Given the description of an element on the screen output the (x, y) to click on. 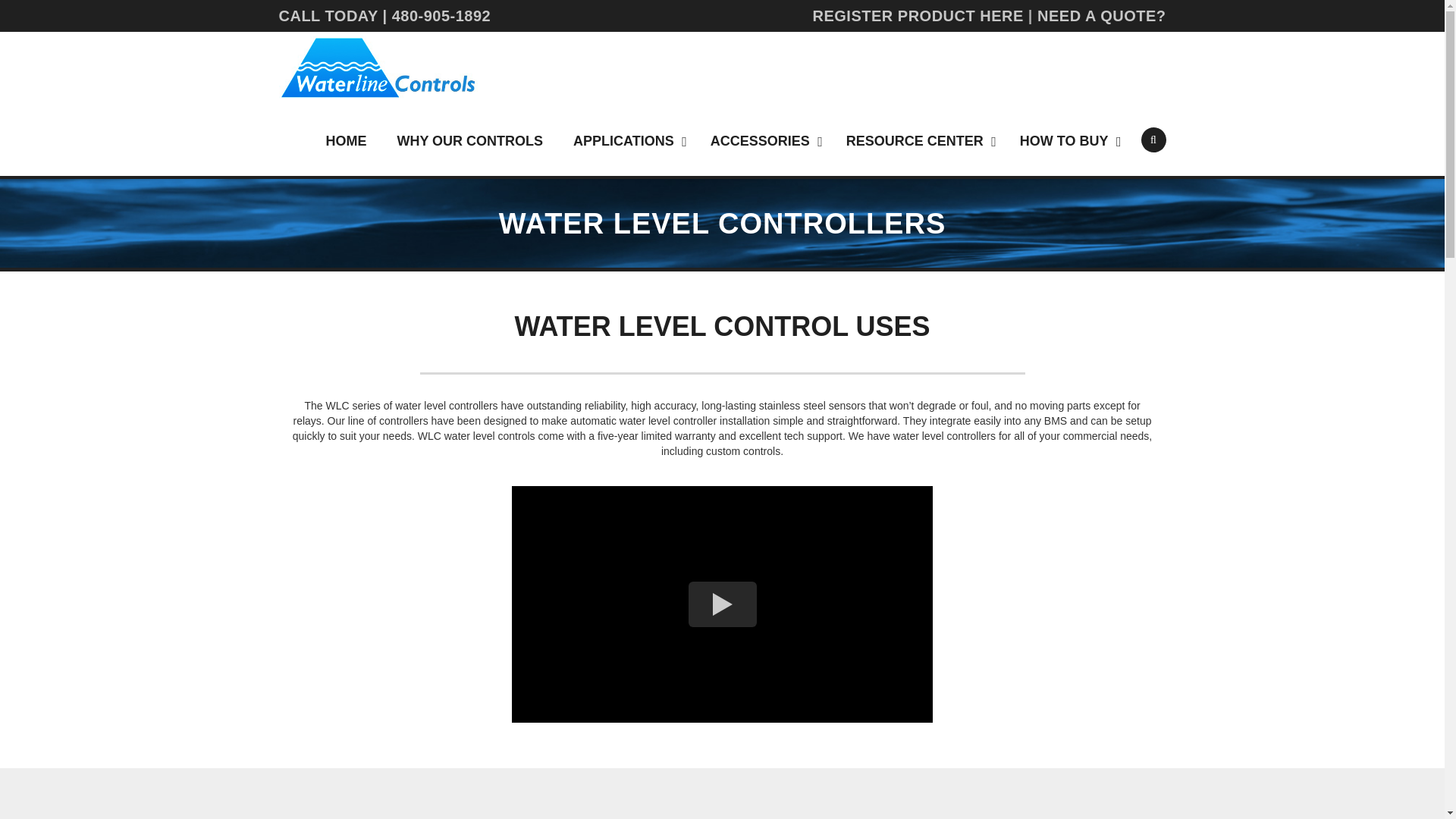
About Waterline Controls (722, 604)
WHY OUR CONTROLS (469, 140)
HOME (345, 140)
NEED A QUOTE? (1101, 15)
ACCESSORIES (763, 140)
APPLICATIONS (626, 140)
REGISTER PRODUCT HERE (917, 15)
RESOURCE CENTER (917, 140)
